Given the description of an element on the screen output the (x, y) to click on. 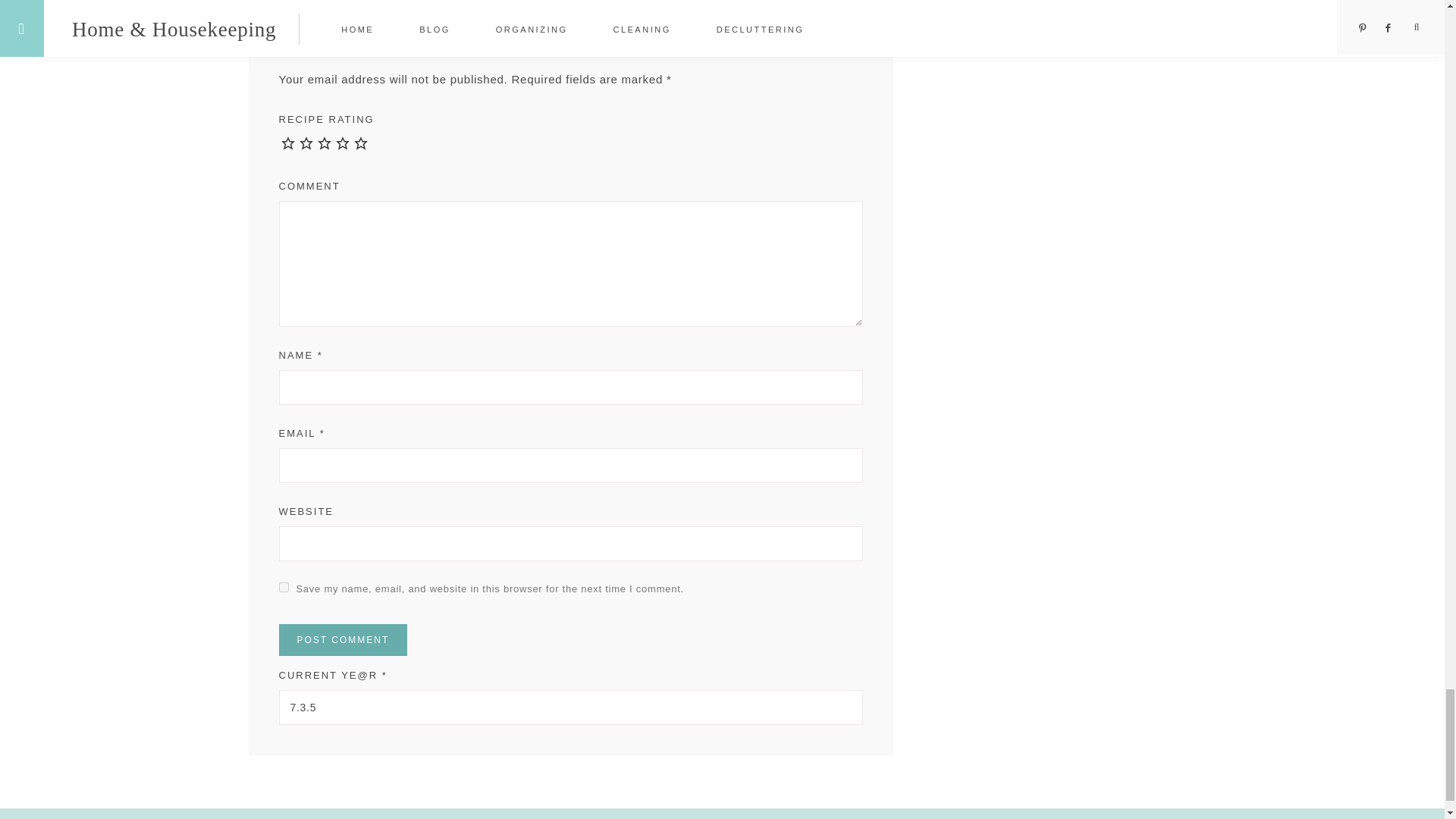
yes (283, 587)
7.3.5 (571, 707)
Post Comment (343, 640)
